Given the description of an element on the screen output the (x, y) to click on. 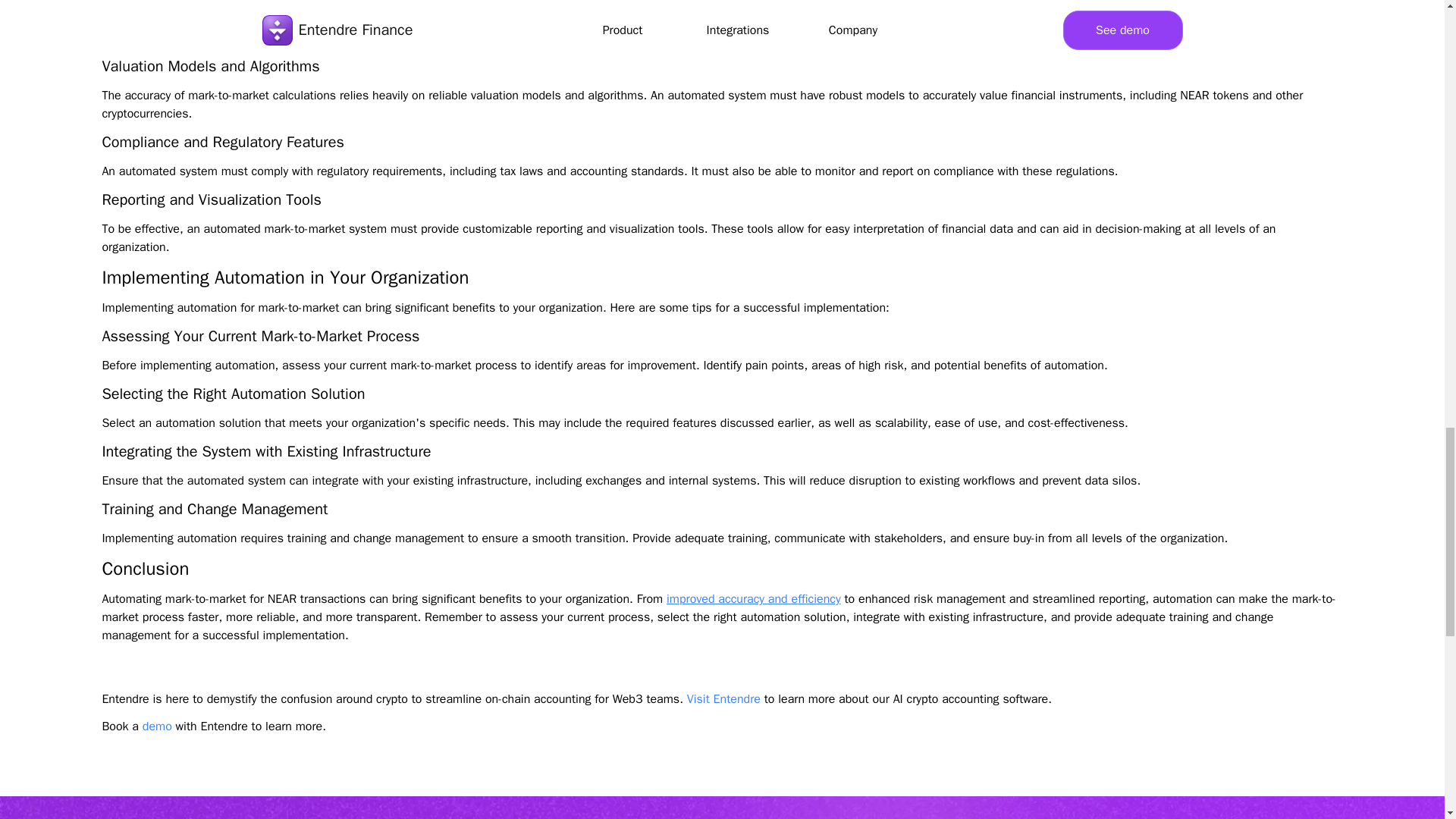
demo (156, 726)
Visit Entendre (723, 698)
improved accuracy and efficiency (753, 598)
